Given the description of an element on the screen output the (x, y) to click on. 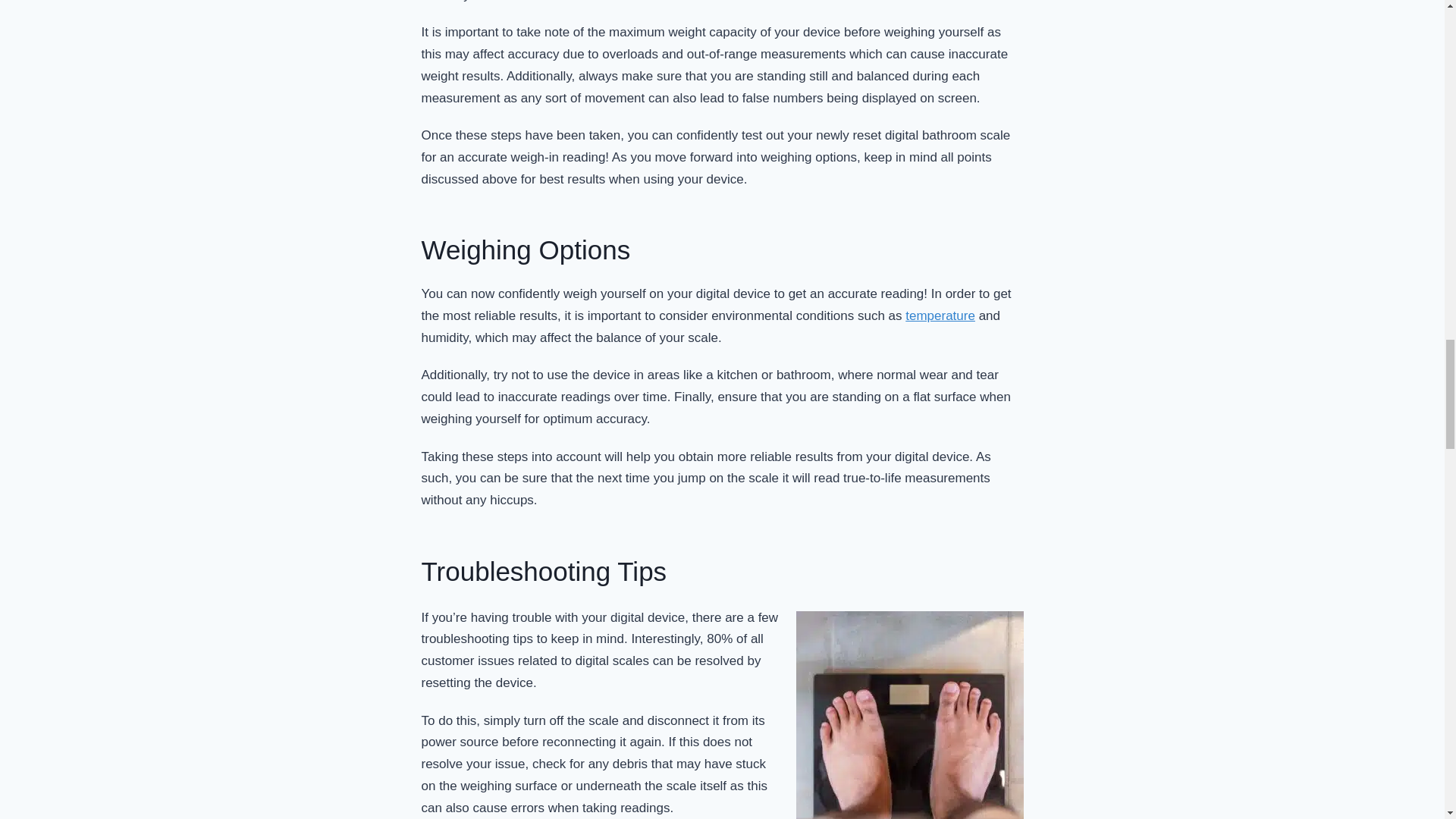
temperature (940, 315)
